Given the description of an element on the screen output the (x, y) to click on. 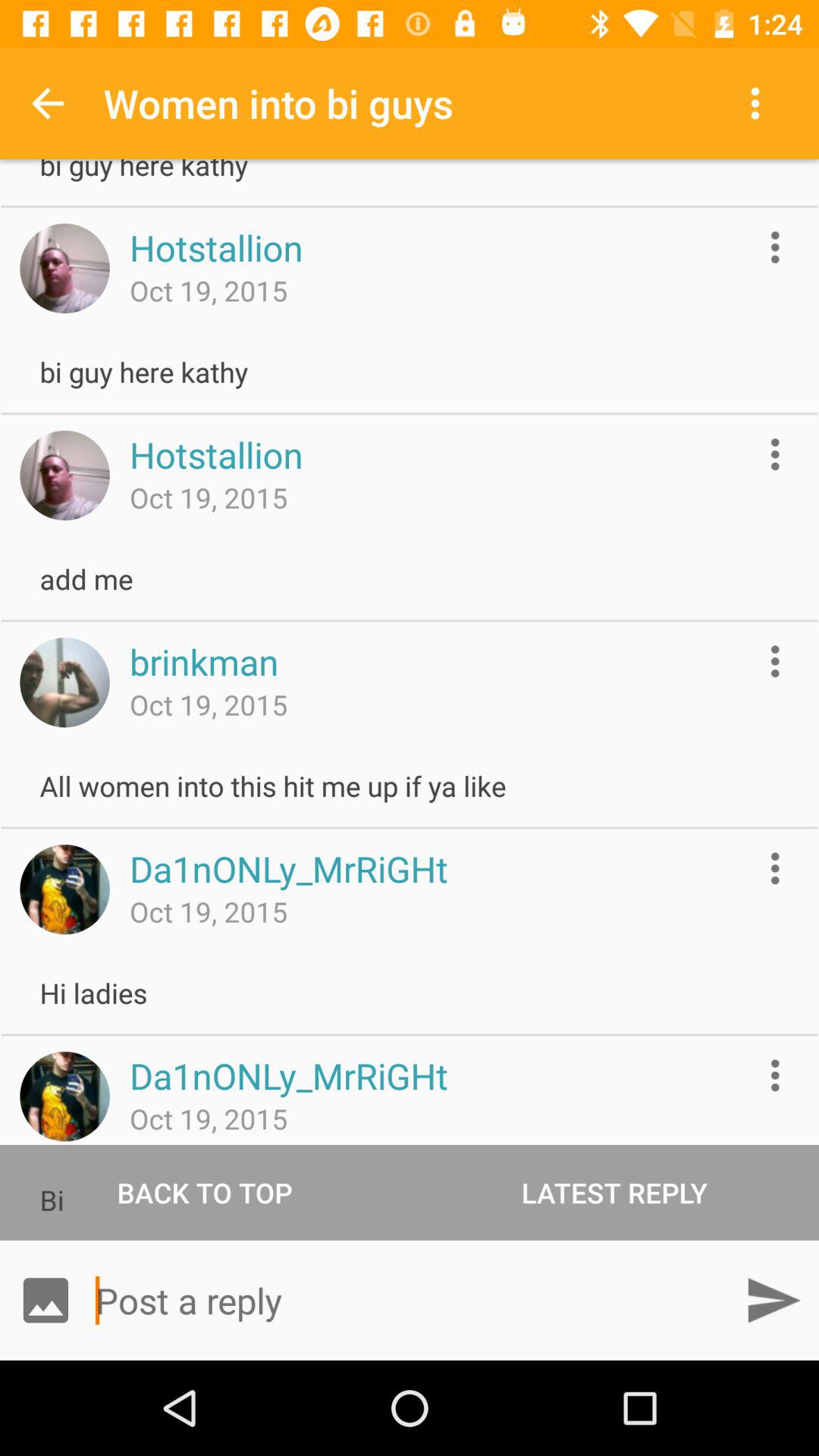
more options (775, 454)
